Given the description of an element on the screen output the (x, y) to click on. 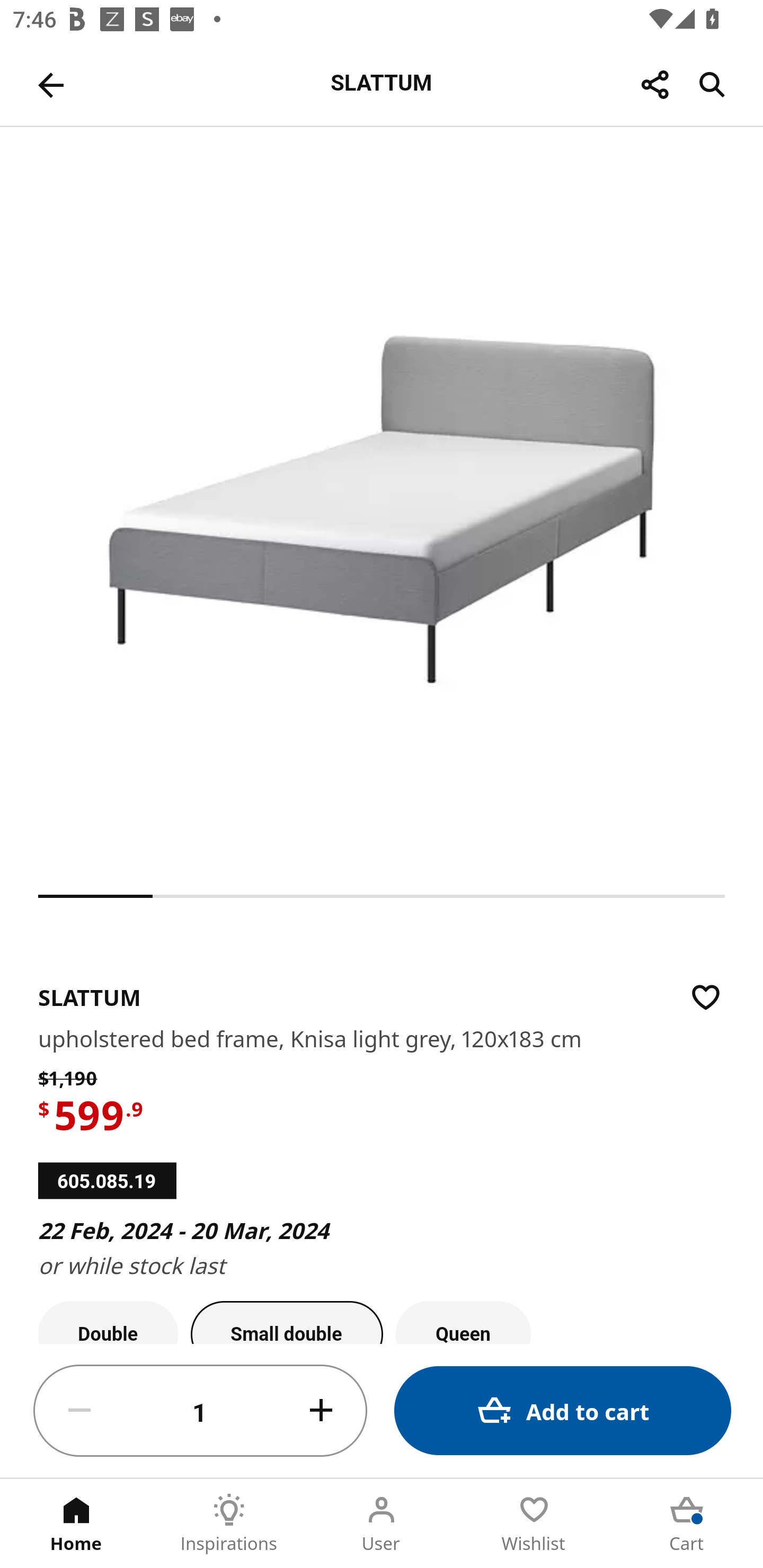
Double (107, 1322)
Small double (286, 1322)
Queen (463, 1322)
Add to cart (562, 1410)
1 (200, 1411)
Home
Tab 1 of 5 (76, 1522)
Inspirations
Tab 2 of 5 (228, 1522)
User
Tab 3 of 5 (381, 1522)
Wishlist
Tab 4 of 5 (533, 1522)
Cart
Tab 5 of 5 (686, 1522)
